Given the description of an element on the screen output the (x, y) to click on. 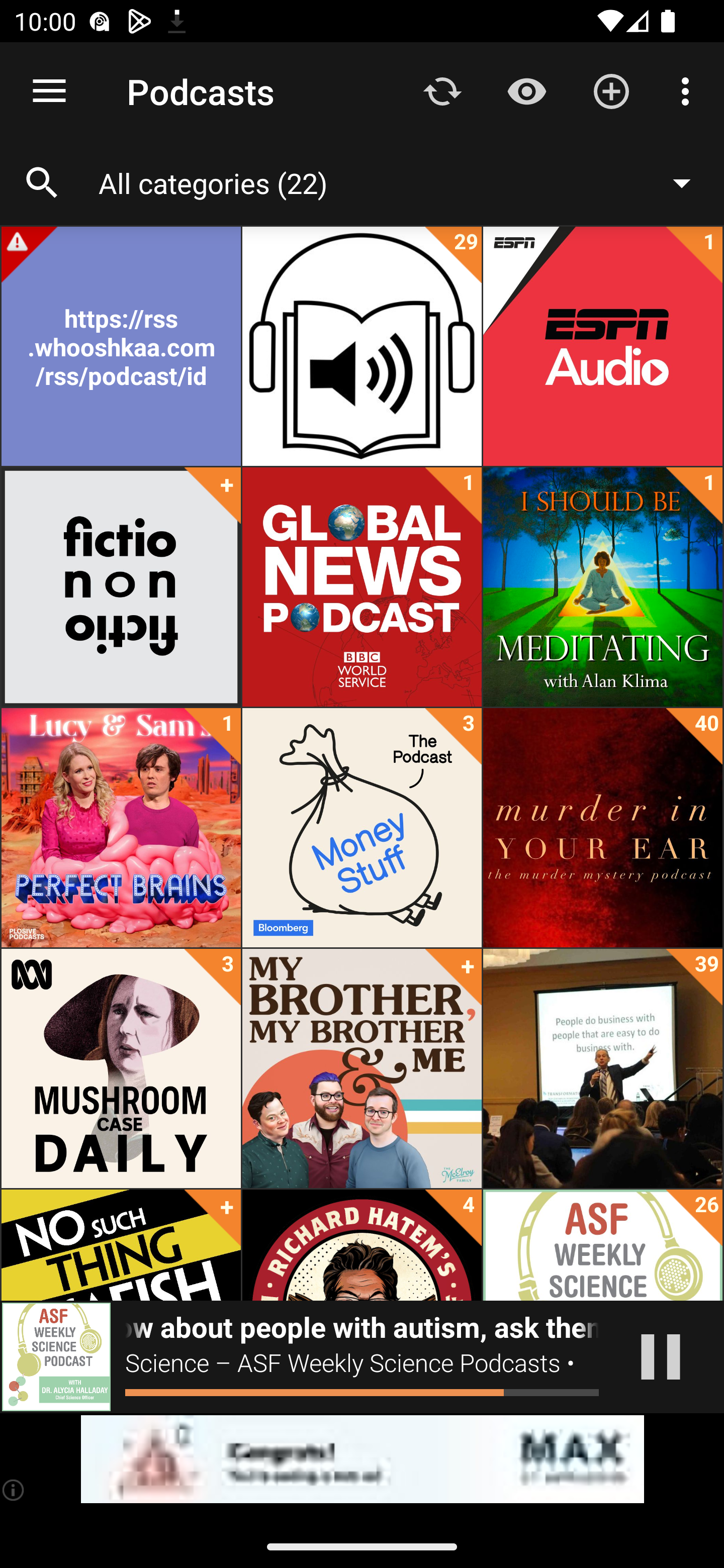
Open navigation sidebar (49, 91)
Update (442, 90)
Show / Hide played content (526, 90)
Add new Podcast (611, 90)
More options (688, 90)
Search (42, 183)
All categories (22) (404, 182)
https://rss.whooshkaa.com/rss/podcast/id/5884 (121, 346)
Audiobooks 29 (361, 346)
ESPN Audio 1 (602, 346)
fiction/non/fiction + (121, 587)
Global News Podcast 1 (361, 587)
Lucy & Sam's Perfect Brains 1 (121, 827)
Money Stuff: The Podcast 3 (361, 827)
Murder In Your Ear-The Murder Mystery Podcast 40 (602, 827)
Mushroom Case Daily 3 (121, 1068)
My Brother, My Brother And Me + (361, 1068)
Play / Pause (660, 1356)
app-monetization (362, 1459)
(i) (14, 1489)
